Given the description of an element on the screen output the (x, y) to click on. 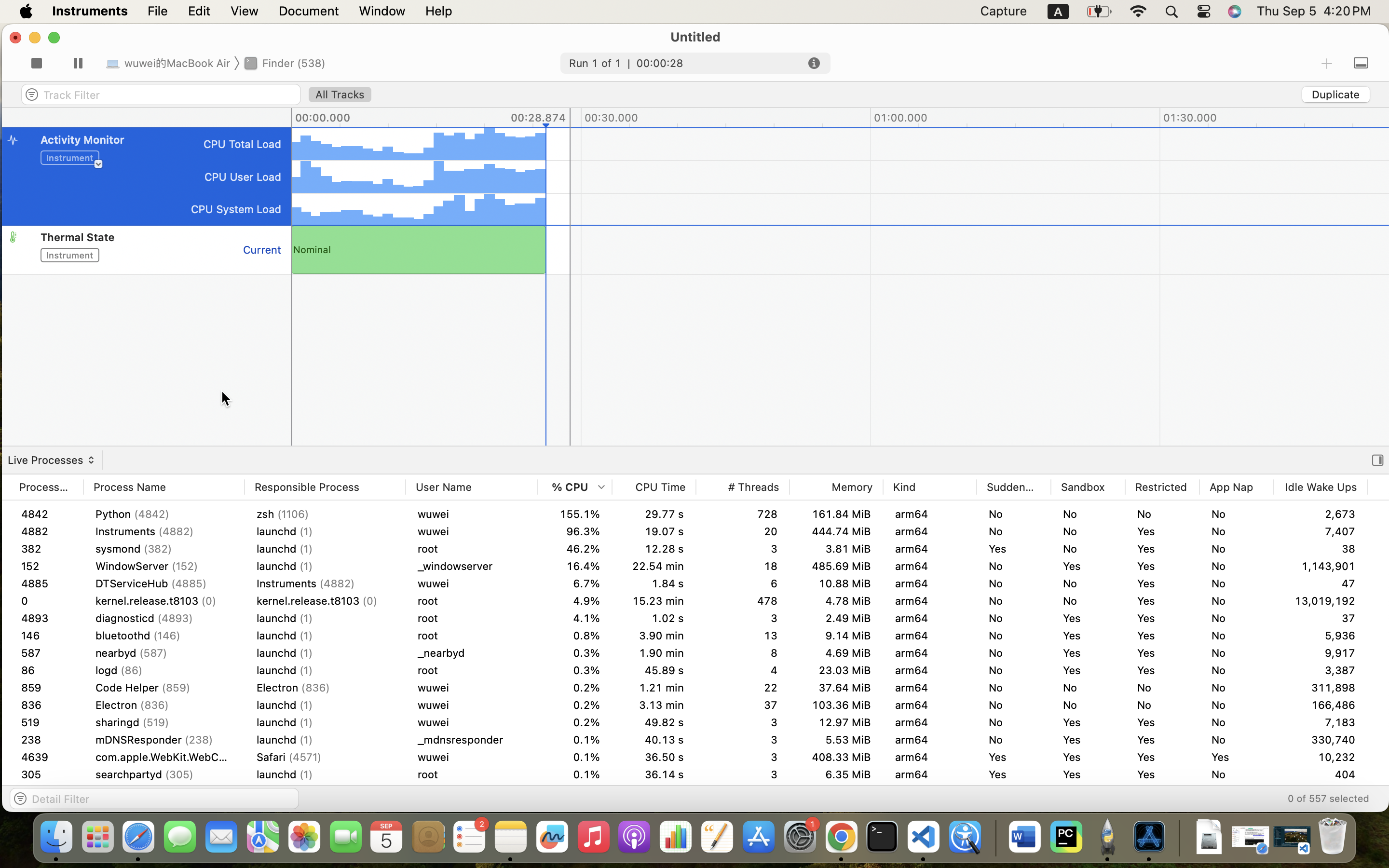
1,255 Element type: AXStaticText (1320, 739)
0.8% Element type: AXStaticText (574, 808)
4.78 MiB Element type: AXStaticText (835, 600)
9.51 s Element type: AXStaticText (653, 774)
37 Element type: AXStaticText (1320, 600)
